Given the description of an element on the screen output the (x, y) to click on. 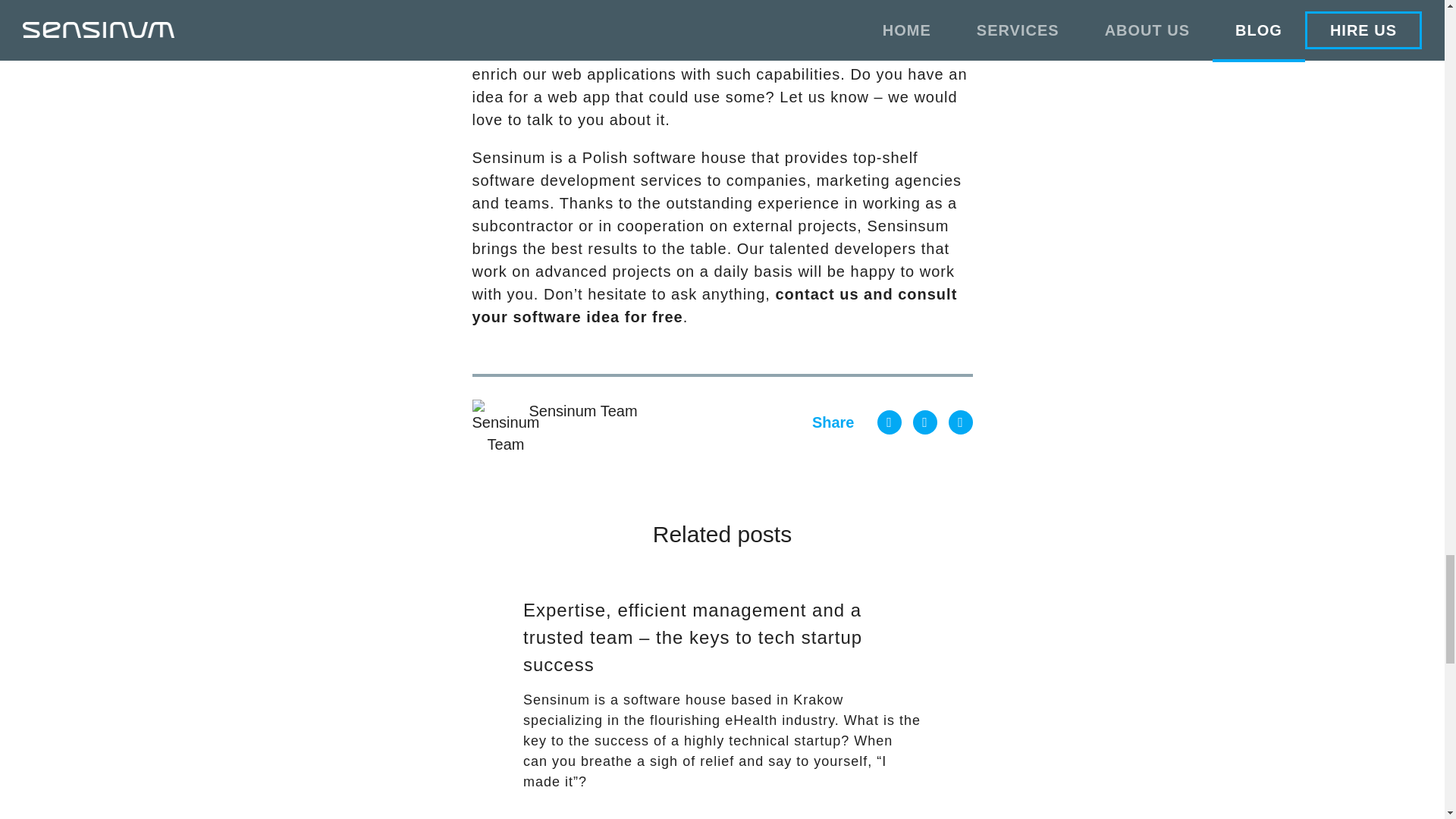
Facebook (888, 422)
Twitter (959, 422)
LinkedIn (924, 422)
